Given the description of an element on the screen output the (x, y) to click on. 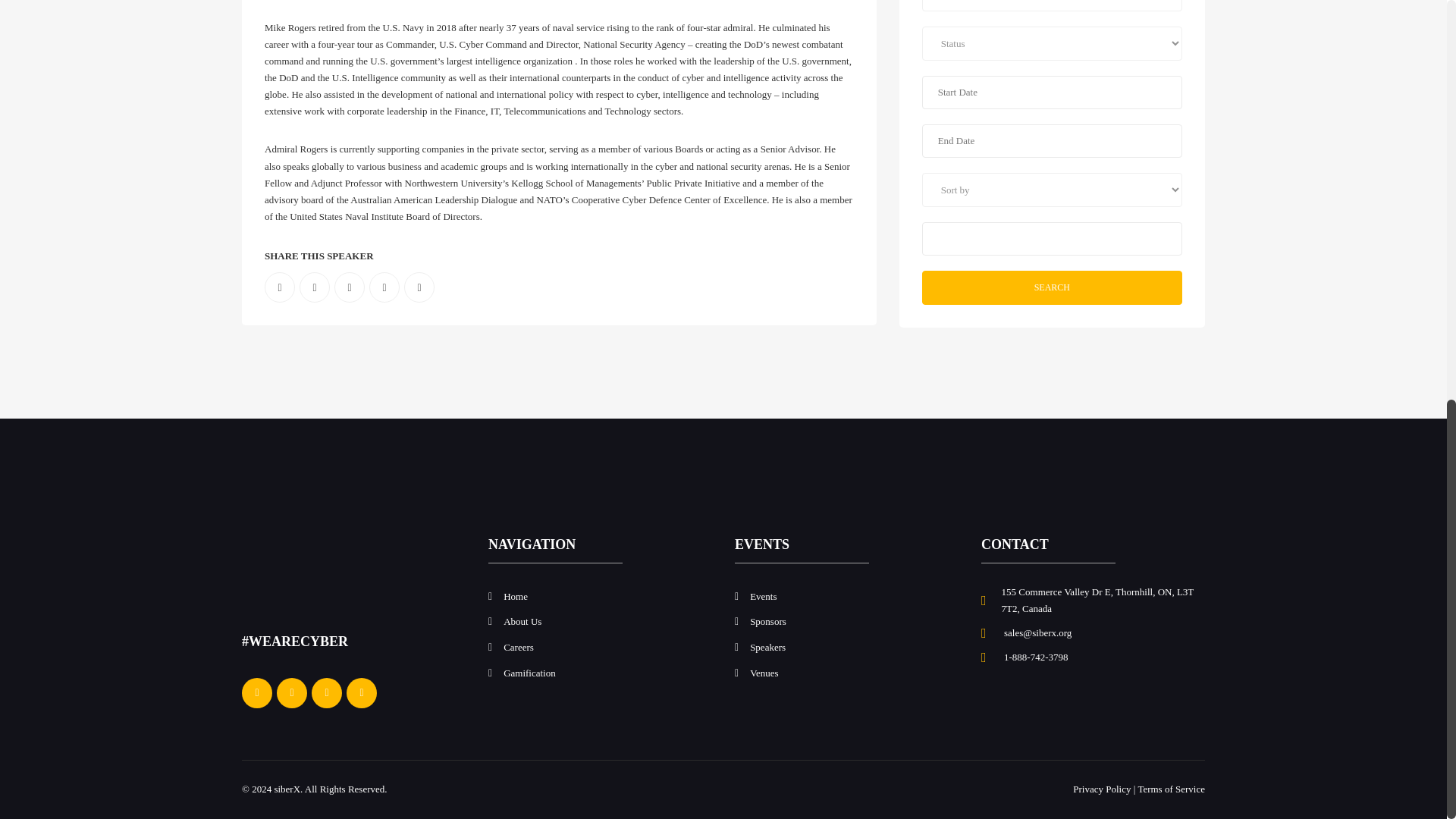
siberX Footer (298, 573)
